Given the description of an element on the screen output the (x, y) to click on. 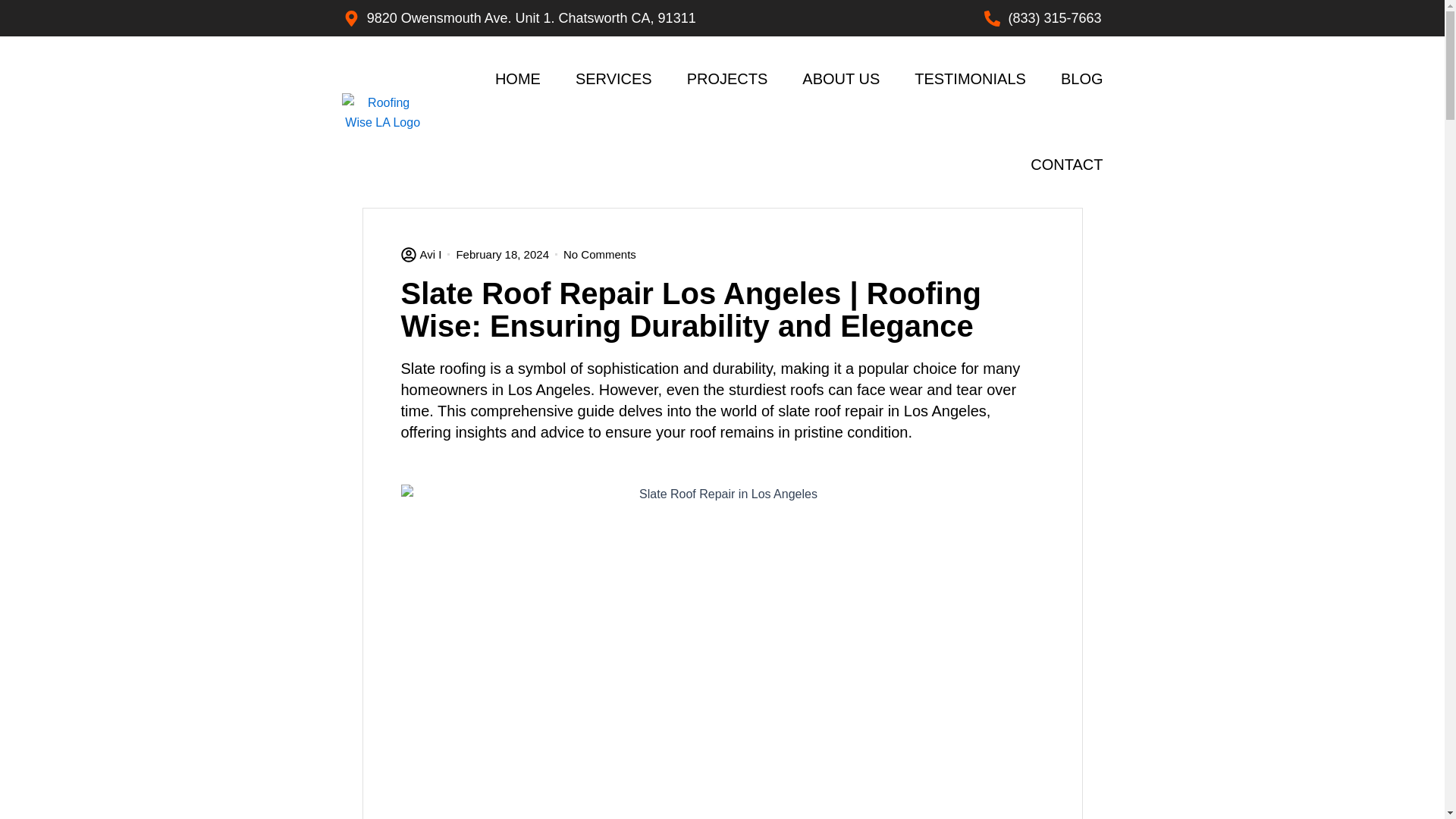
SERVICES (613, 79)
BLOG (1082, 79)
CONTACT (1066, 165)
February 18, 2024 (501, 254)
PROJECTS (727, 79)
ABOUT US (840, 79)
Avi I (420, 254)
HOME (517, 79)
TESTIMONIALS (969, 79)
